Given the description of an element on the screen output the (x, y) to click on. 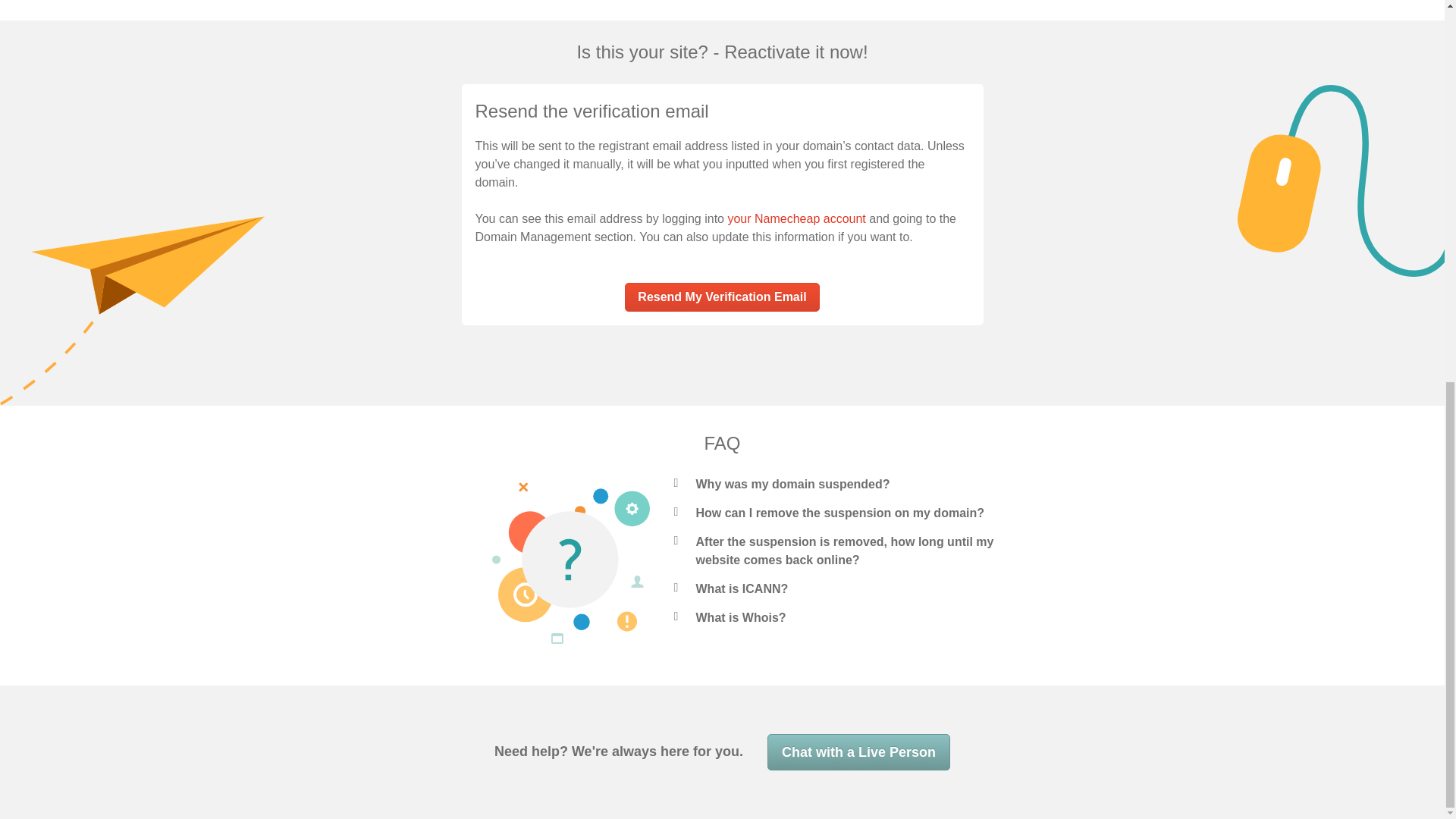
Resend My Verification Email (721, 297)
your Namecheap account (795, 218)
Chat with a Live Person (858, 751)
